Given the description of an element on the screen output the (x, y) to click on. 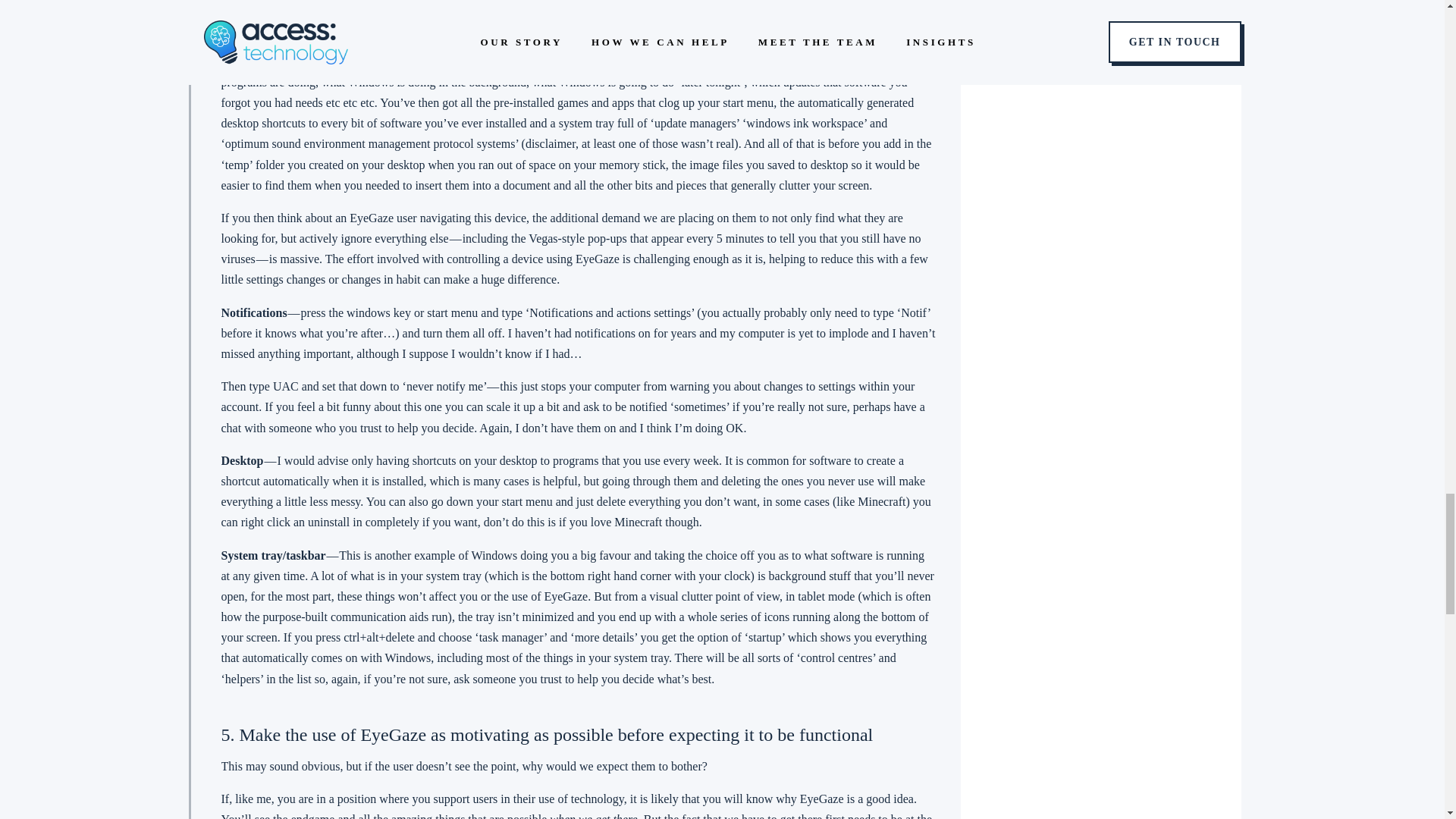
Mike  (769, 40)
